Given the description of an element on the screen output the (x, y) to click on. 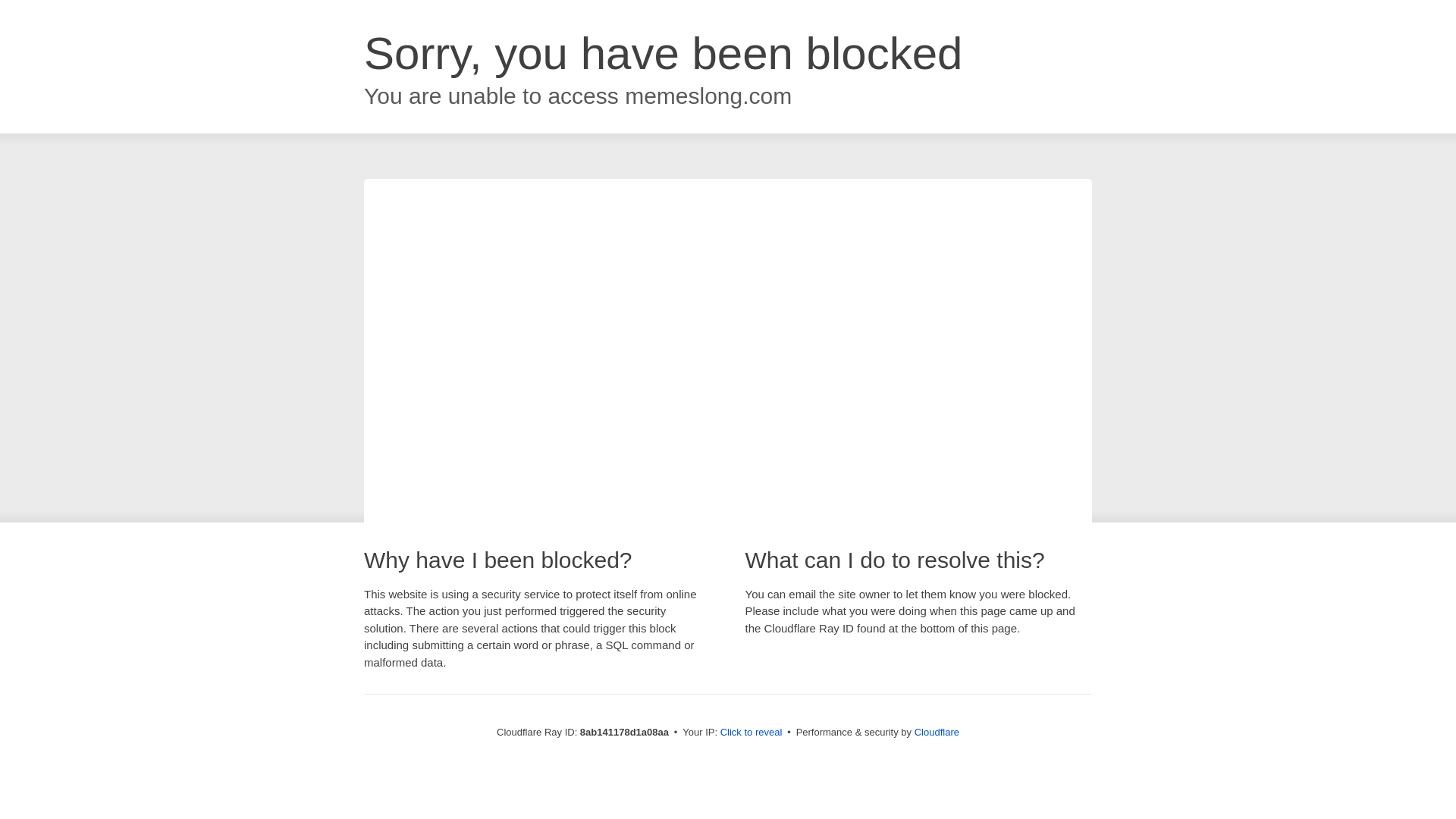
Click to reveal (751, 732)
Cloudflare (936, 731)
